Given the description of an element on the screen output the (x, y) to click on. 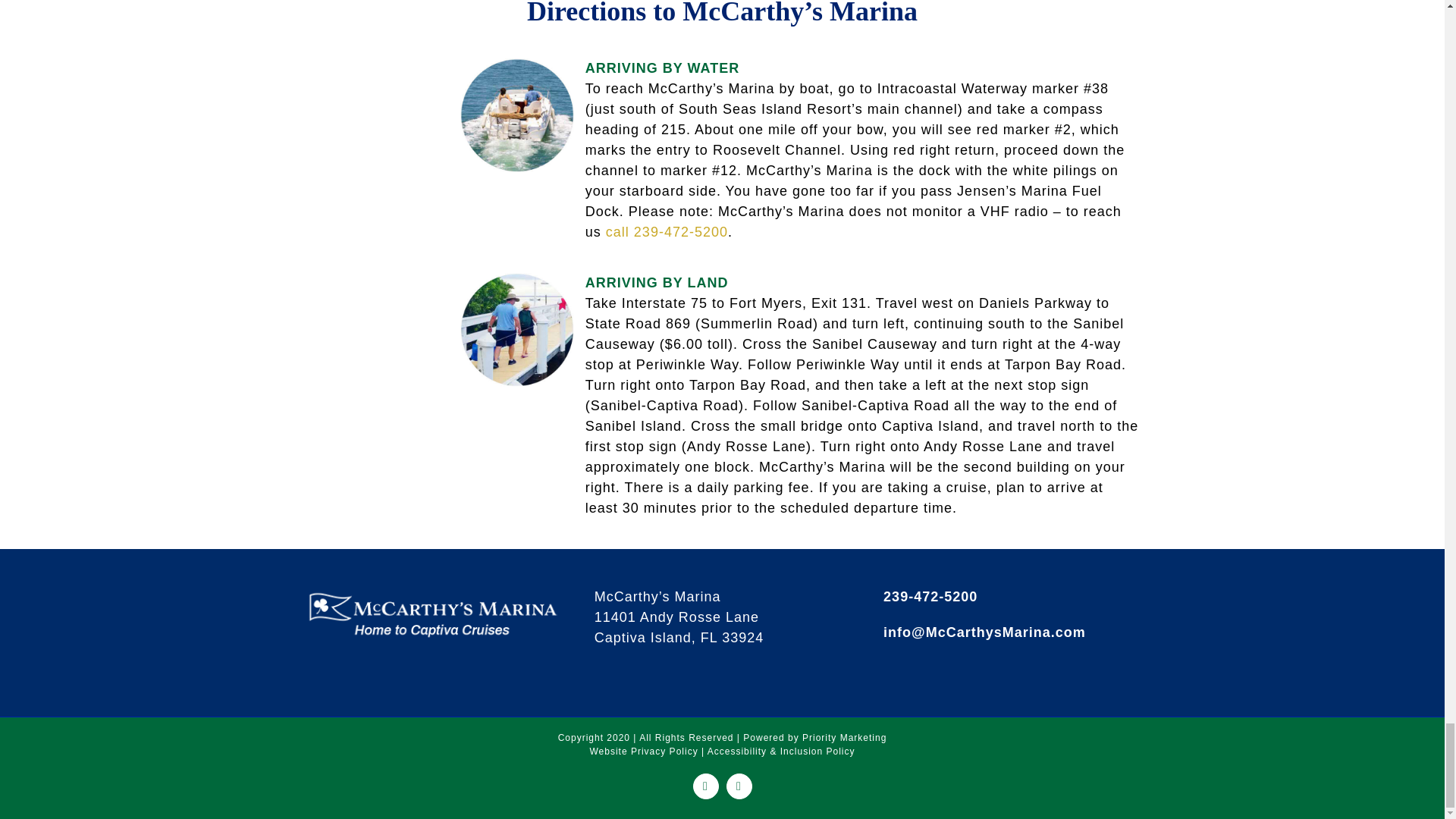
Instagram (739, 786)
Couple-on-boat-arriving-to-the-marina-by-land (516, 329)
McCarthys-Marina-Logo-with-Tagline (432, 616)
Facebook (706, 786)
Couple-on-boat-arriving-to-the-marina-by-water (516, 114)
